Given the description of an element on the screen output the (x, y) to click on. 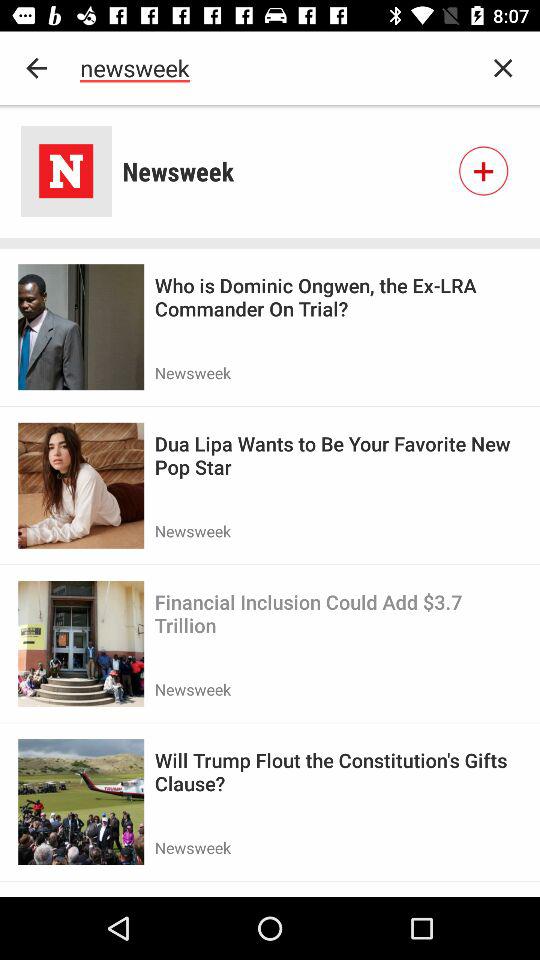
click to add newsweek (483, 171)
